Given the description of an element on the screen output the (x, y) to click on. 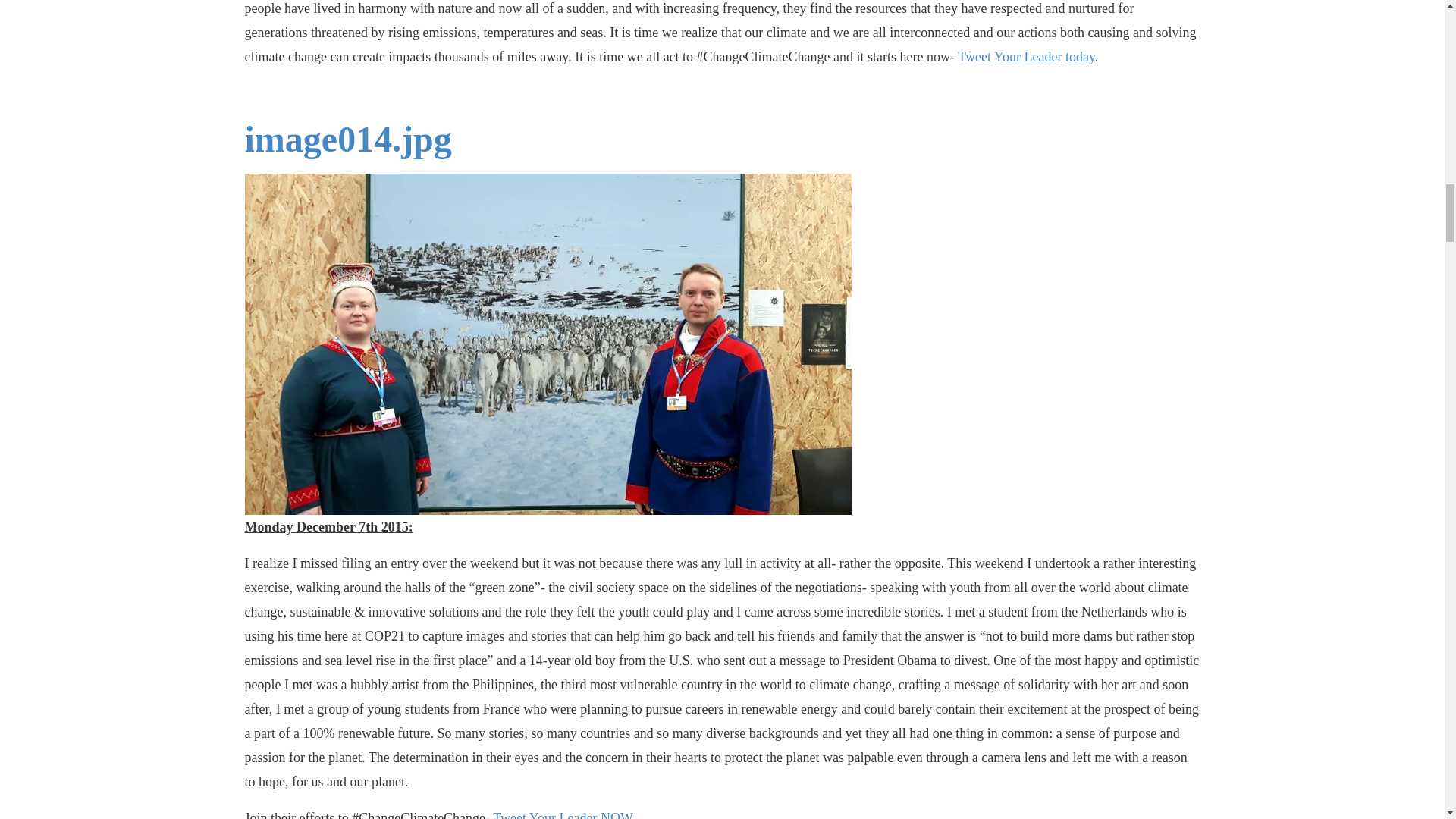
image014.jpg (347, 138)
Tweet Your Leader today (1026, 56)
Tweet Your Leader NOW (562, 814)
